Given the description of an element on the screen output the (x, y) to click on. 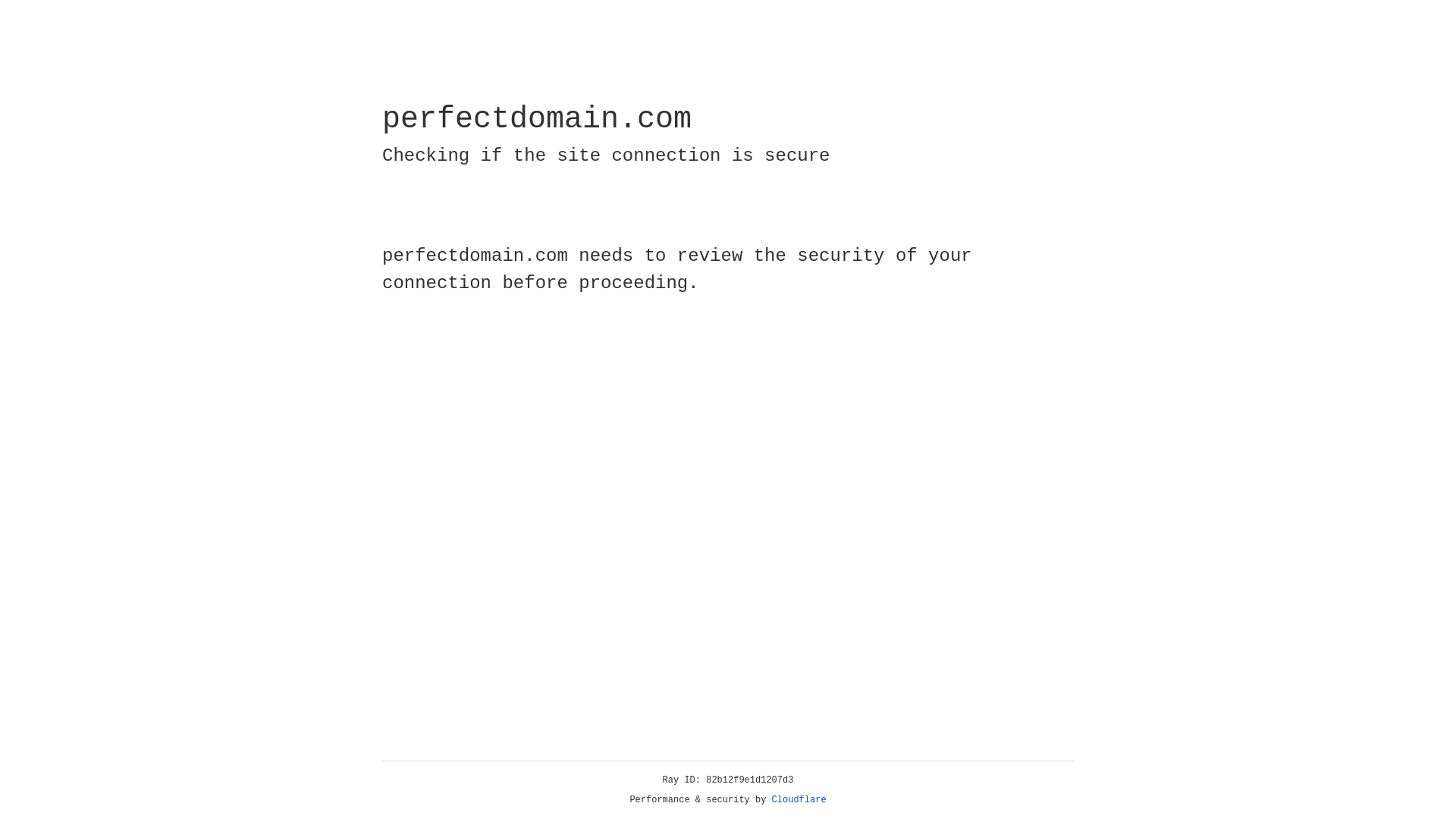
Cloudflare Element type: text (798, 799)
